Given the description of an element on the screen output the (x, y) to click on. 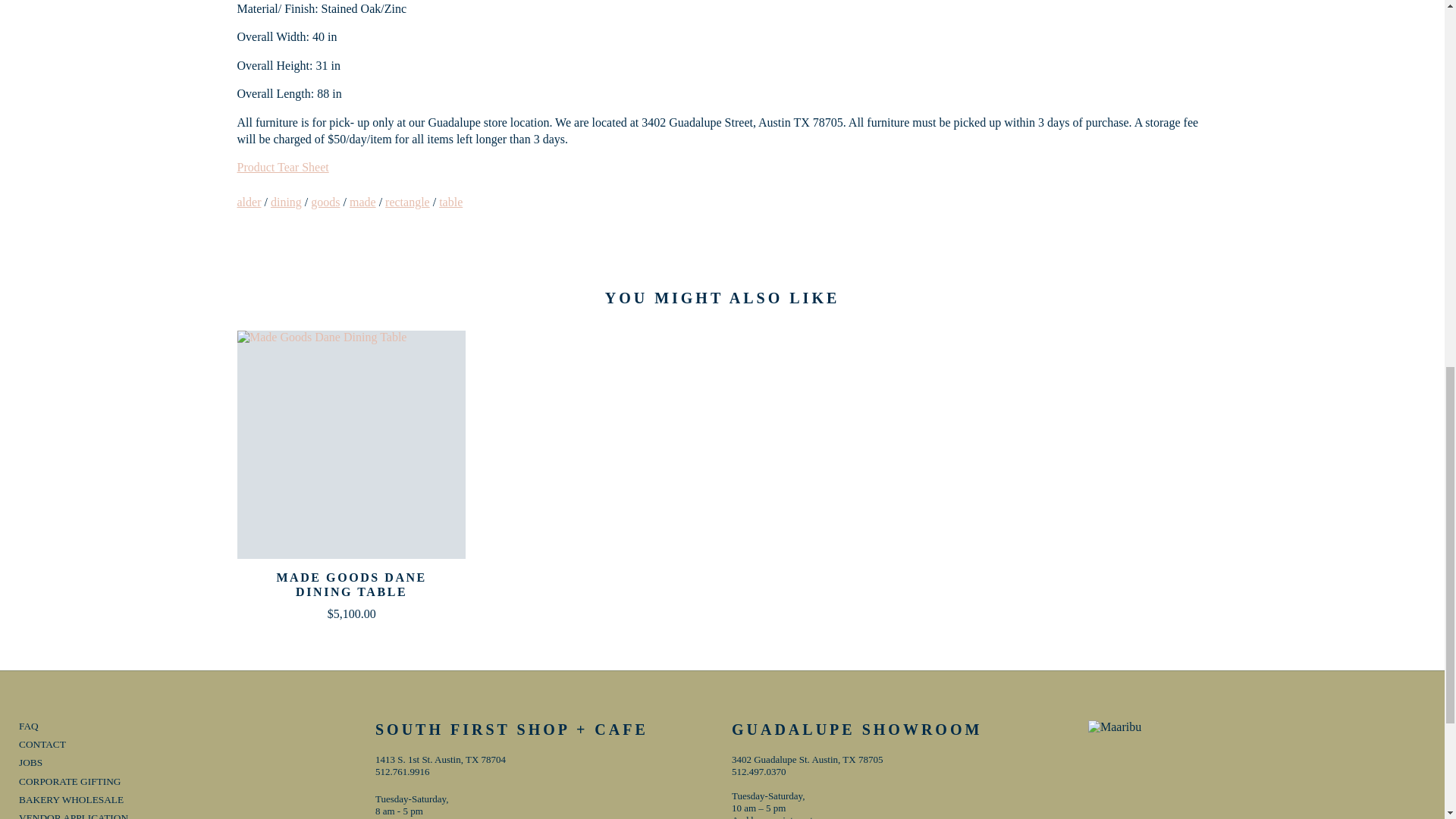
Made Goods Dane Dining Table (349, 444)
rectangle (407, 201)
table (451, 201)
goods (325, 201)
made (362, 201)
alder (247, 201)
dining (285, 201)
